Given the description of an element on the screen output the (x, y) to click on. 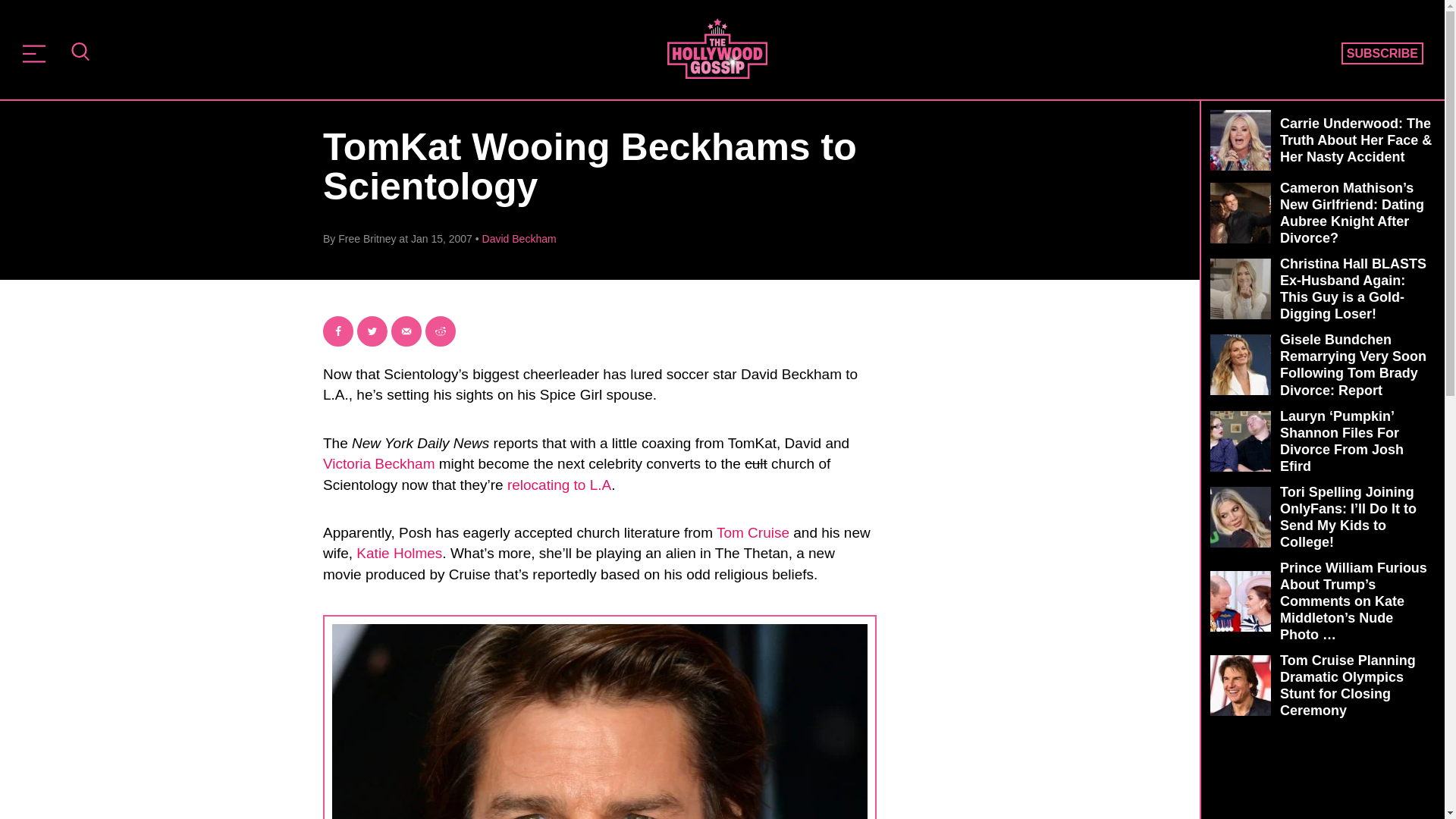
The Hollywood Gossip (716, 48)
SEARCH (79, 53)
Share on Reddit (440, 331)
relocating to L.A (558, 484)
David Beckham (518, 238)
Send over email (406, 331)
SUBSCRIBE (1381, 53)
